Given the description of an element on the screen output the (x, y) to click on. 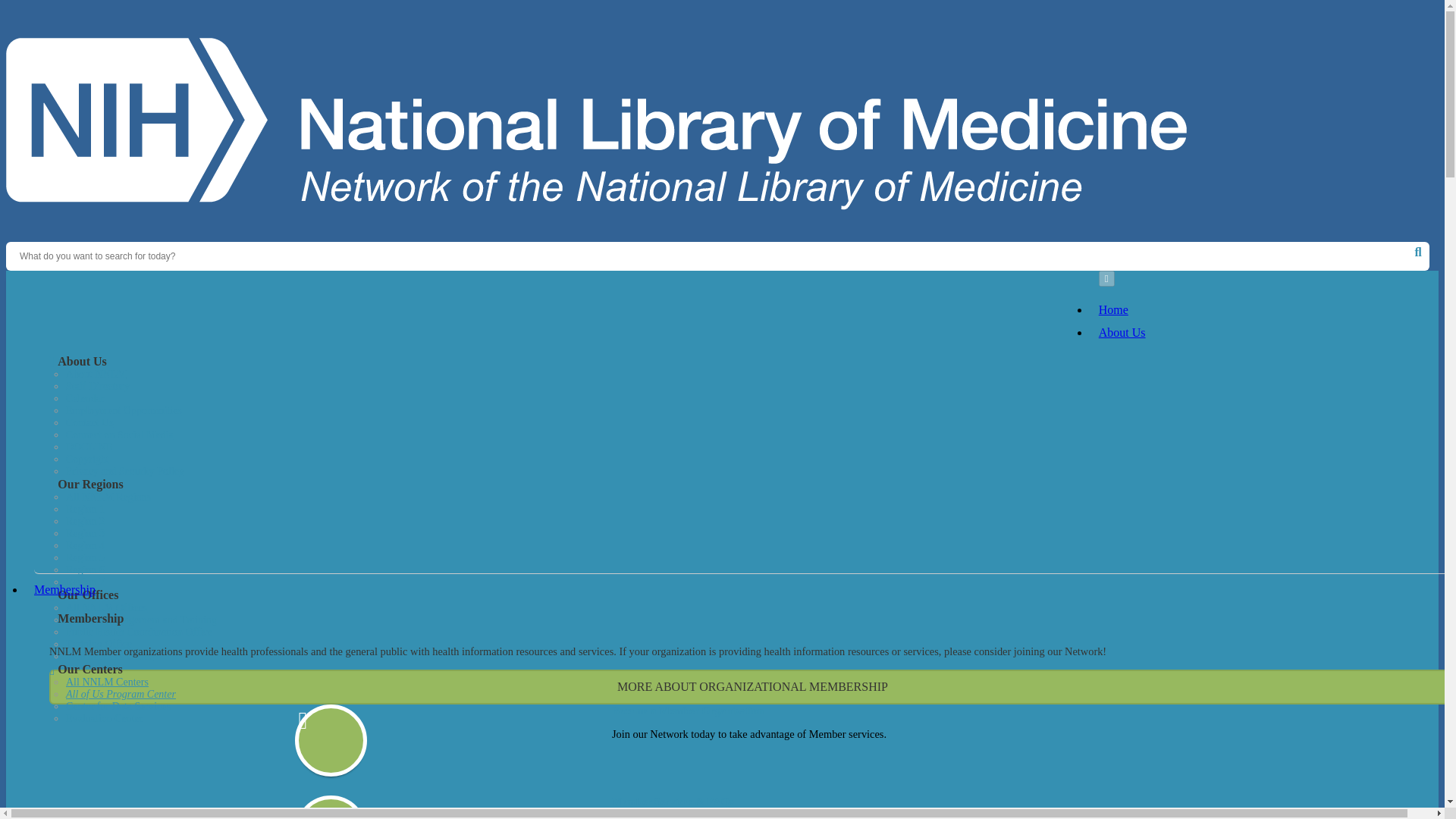
NNLM Search Button (1419, 249)
Membership (64, 589)
Training Office (98, 644)
Privacy and Security Policy (124, 471)
Office of Engagement and Training (140, 619)
Copyright (87, 459)
Region 2 (84, 521)
Employment Opportunities (123, 410)
Region 5 (84, 557)
About NNLM (95, 374)
Connect on Social Media (119, 434)
Region 6 (84, 569)
Create an NNLM User Account (434, 319)
Calendar (84, 398)
